Given the description of an element on the screen output the (x, y) to click on. 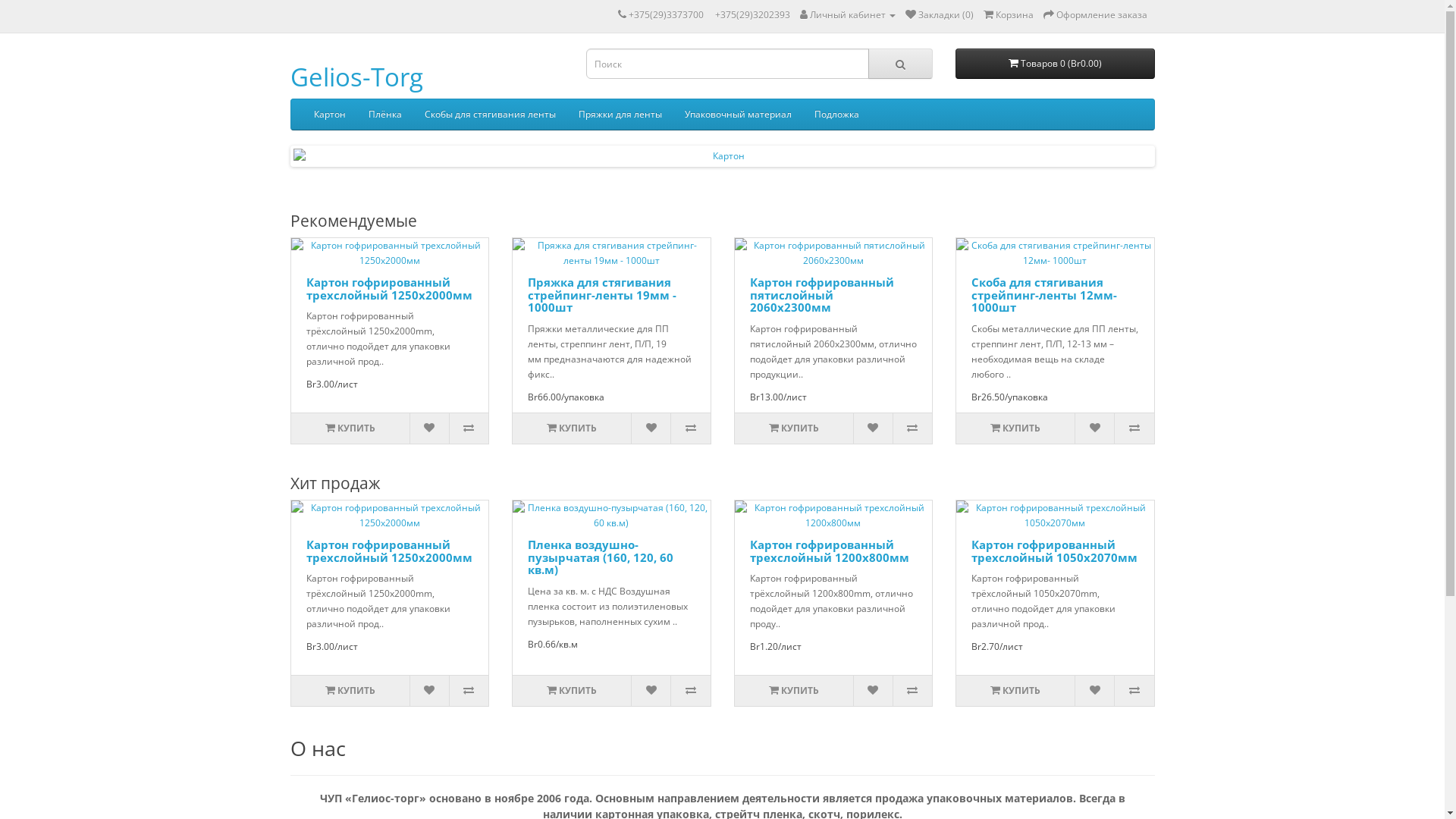
+375(29)3202393 Element type: text (751, 14)
+375(29)3373700 Element type: text (664, 14)
Gelios-Torg Element type: text (355, 76)
